Given the description of an element on the screen output the (x, y) to click on. 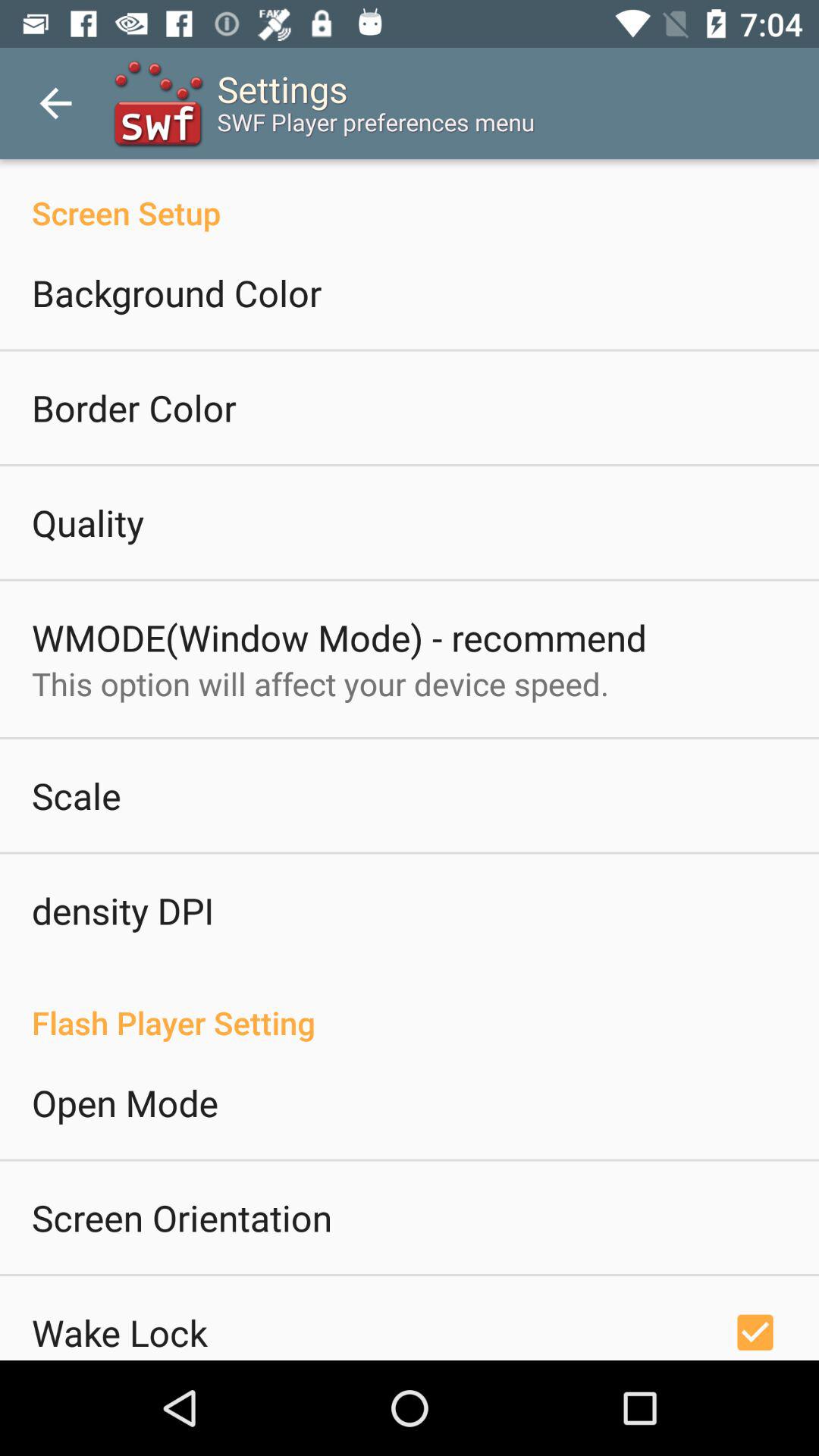
turn off the wmode window mode item (338, 637)
